Given the description of an element on the screen output the (x, y) to click on. 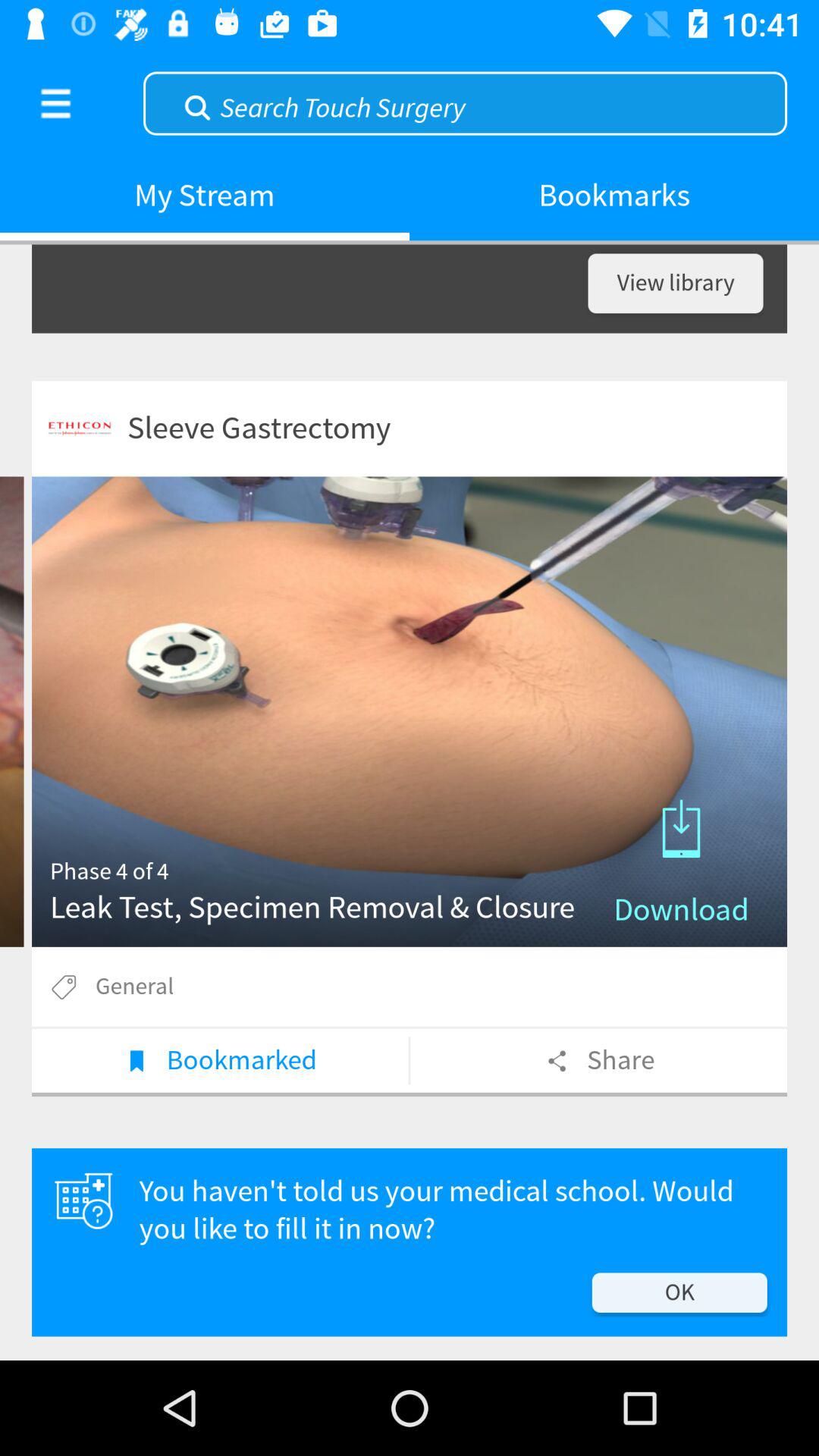
search field (465, 102)
